Given the description of an element on the screen output the (x, y) to click on. 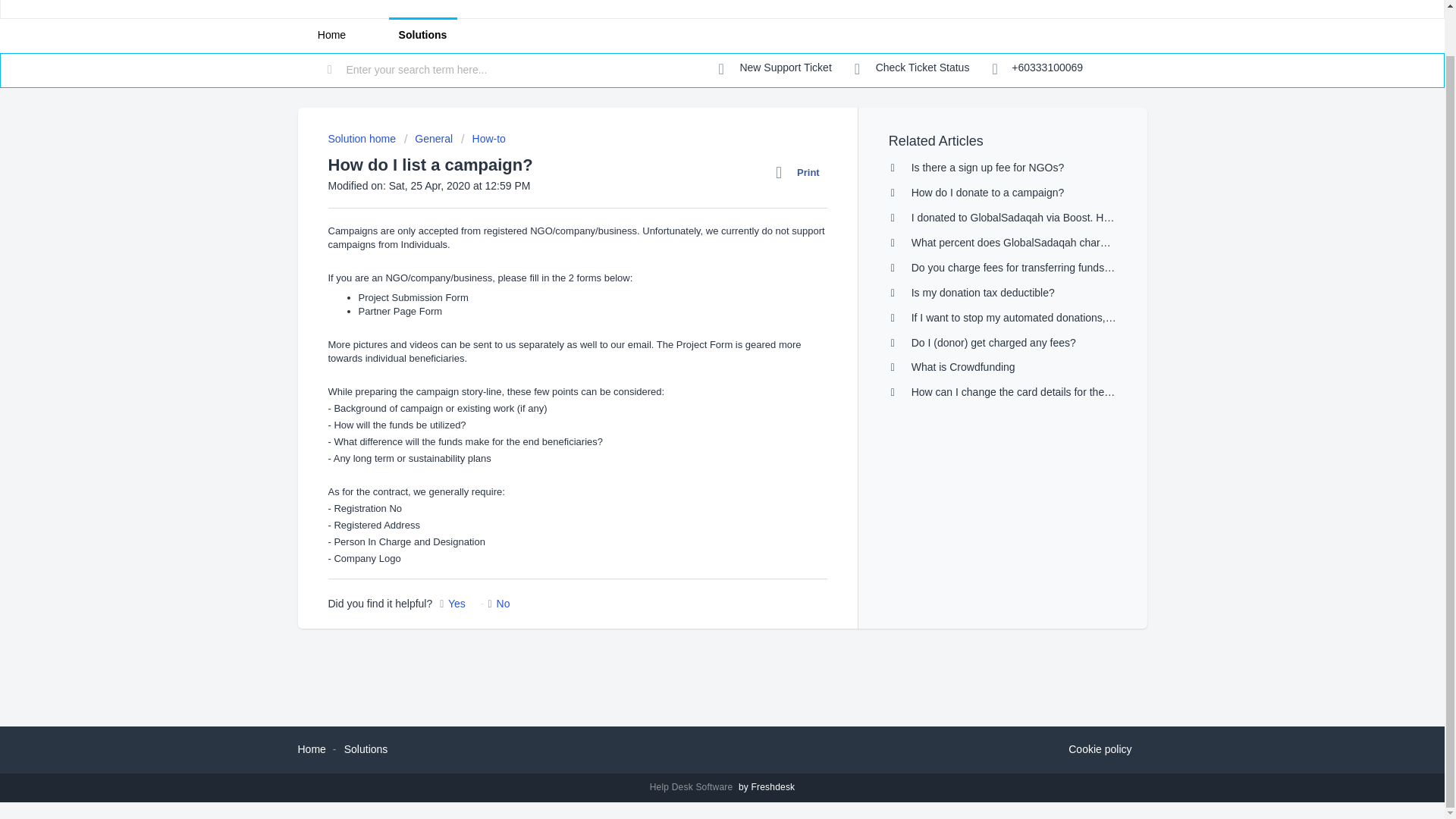
Check Ticket Status (911, 68)
Cookie policy (1099, 750)
New Support Ticket (775, 68)
Print (801, 172)
Solutions (365, 748)
If I want to stop my automated donations, how do I do that? (1050, 317)
Check ticket status (911, 68)
What percent does GlobalSadaqah charge as fees? (1032, 242)
Project Submission Form (412, 297)
